Given the description of an element on the screen output the (x, y) to click on. 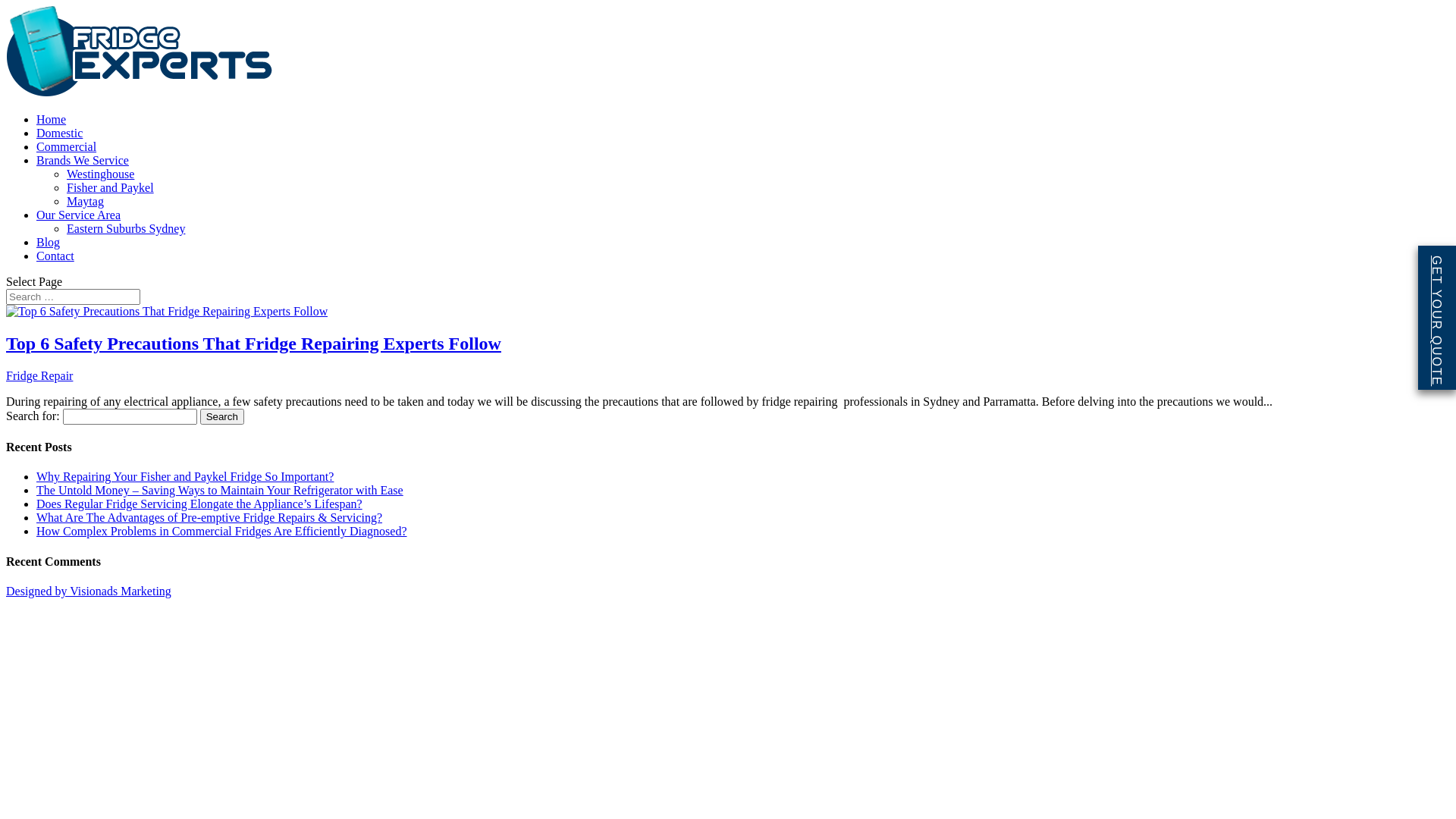
Commercial Element type: text (66, 146)
Contact Element type: text (55, 255)
Maytag Element type: text (84, 200)
Fisher and Paykel Element type: text (109, 187)
Our Service Area Element type: text (78, 214)
Westinghouse Element type: text (100, 173)
Brands We Service Element type: text (82, 159)
Why Repairing Your Fisher and Paykel Fridge So Important? Element type: text (184, 476)
Search Element type: text (222, 416)
Eastern Suburbs Sydney Element type: text (125, 228)
Home Element type: text (50, 118)
Blog Element type: text (47, 241)
Designed by Visionads Marketing Element type: text (88, 590)
Search for: Element type: hover (73, 296)
Domestic Element type: text (59, 132)
Fridge Repair Element type: text (39, 375)
